Given the description of an element on the screen output the (x, y) to click on. 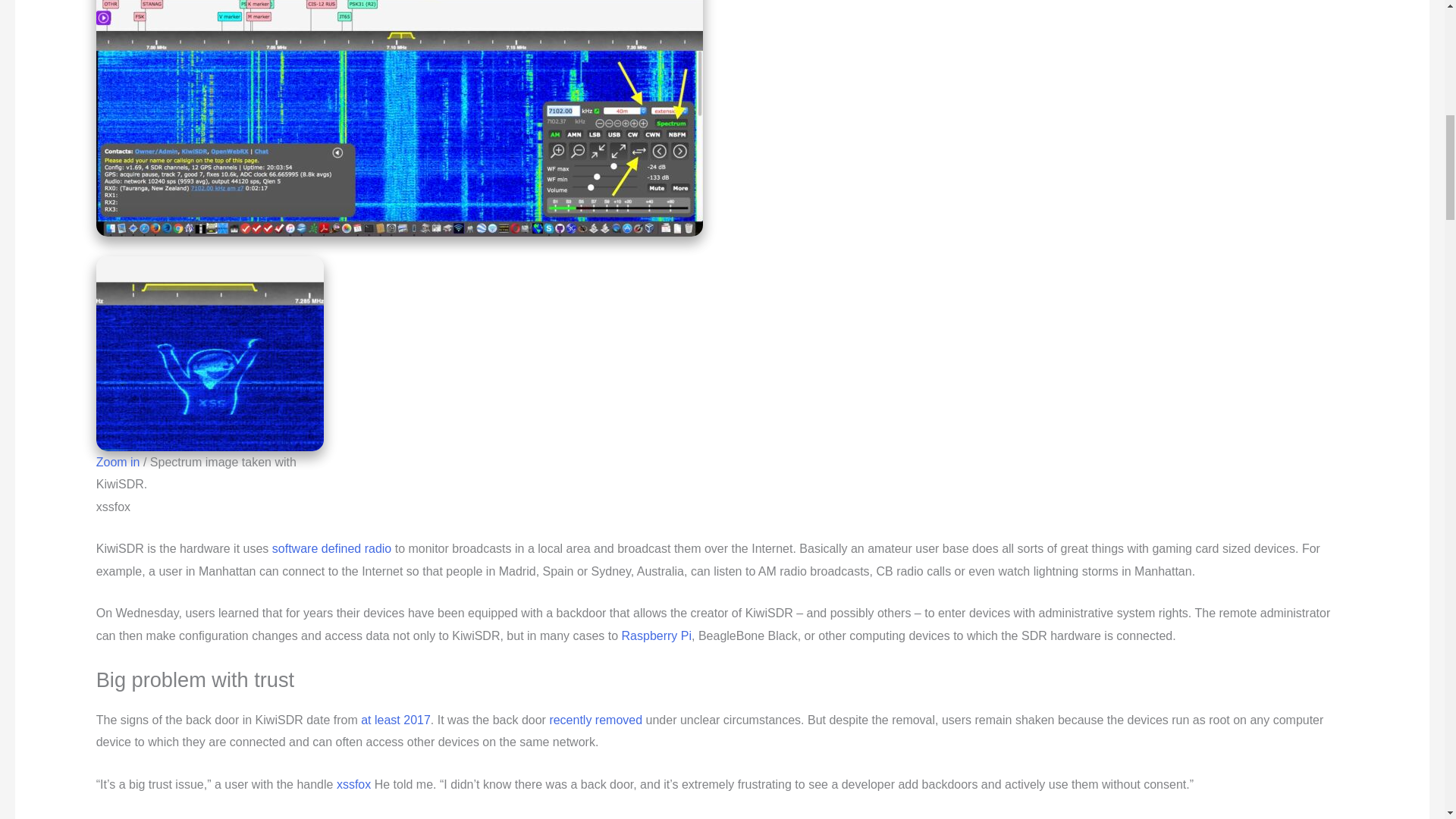
software defined radio (331, 548)
xssfox (353, 784)
at least 2017 (395, 719)
recently removed (595, 719)
Raspberry Pi (656, 635)
Zoom in (117, 461)
